Given the description of an element on the screen output the (x, y) to click on. 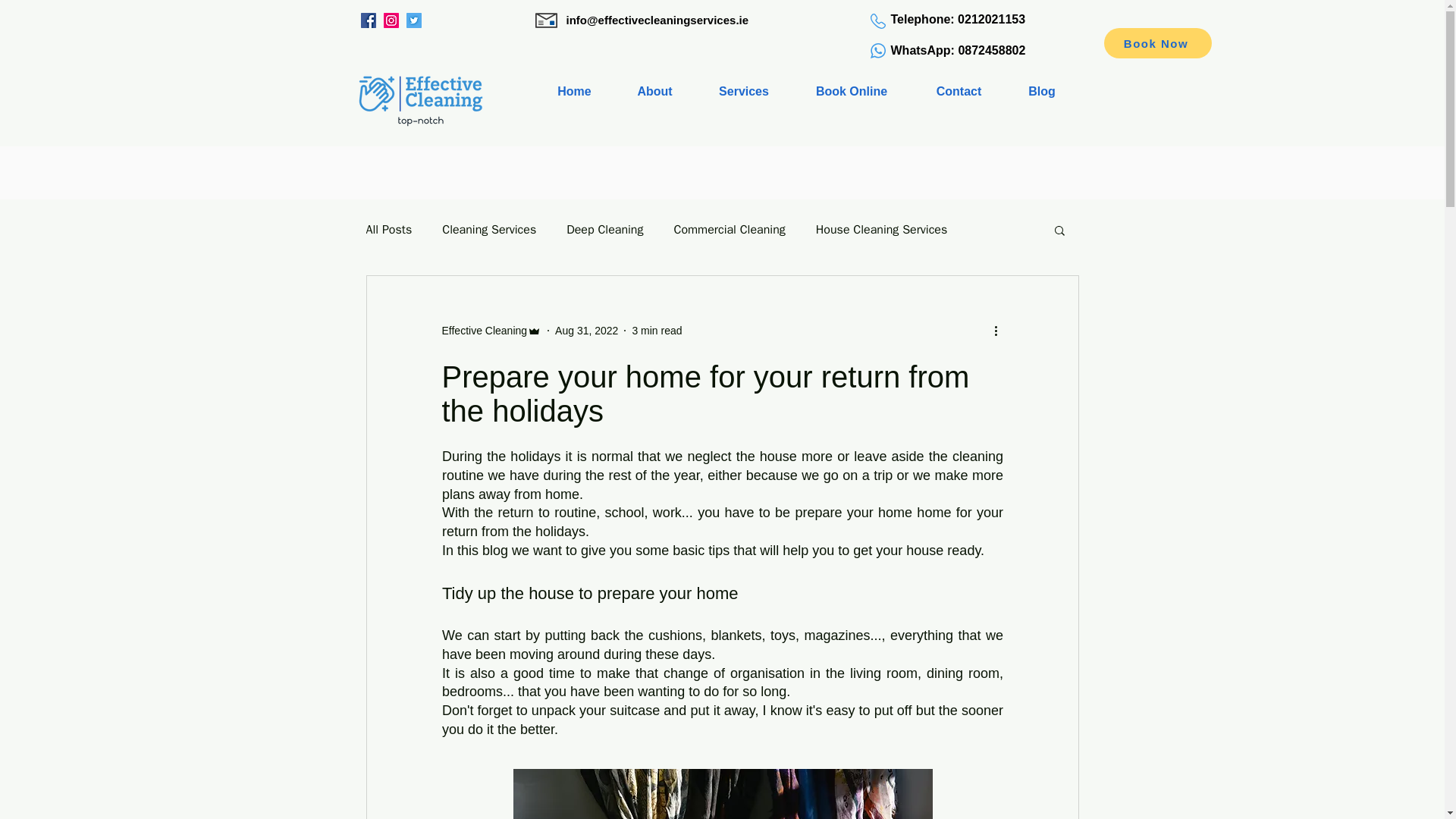
Book Now (1157, 42)
Blog (1042, 91)
Cleaning Services (488, 229)
Aug 31, 2022 (585, 330)
Commercial Cleaning (728, 229)
Effective Cleaning (491, 330)
0212021153 (991, 19)
All Posts (388, 229)
Clothes (721, 794)
About (654, 91)
Effective Cleaning (484, 330)
House Cleaning Services (881, 229)
3 min read (656, 330)
Book Online (851, 91)
Deep Cleaning (604, 229)
